Given the description of an element on the screen output the (x, y) to click on. 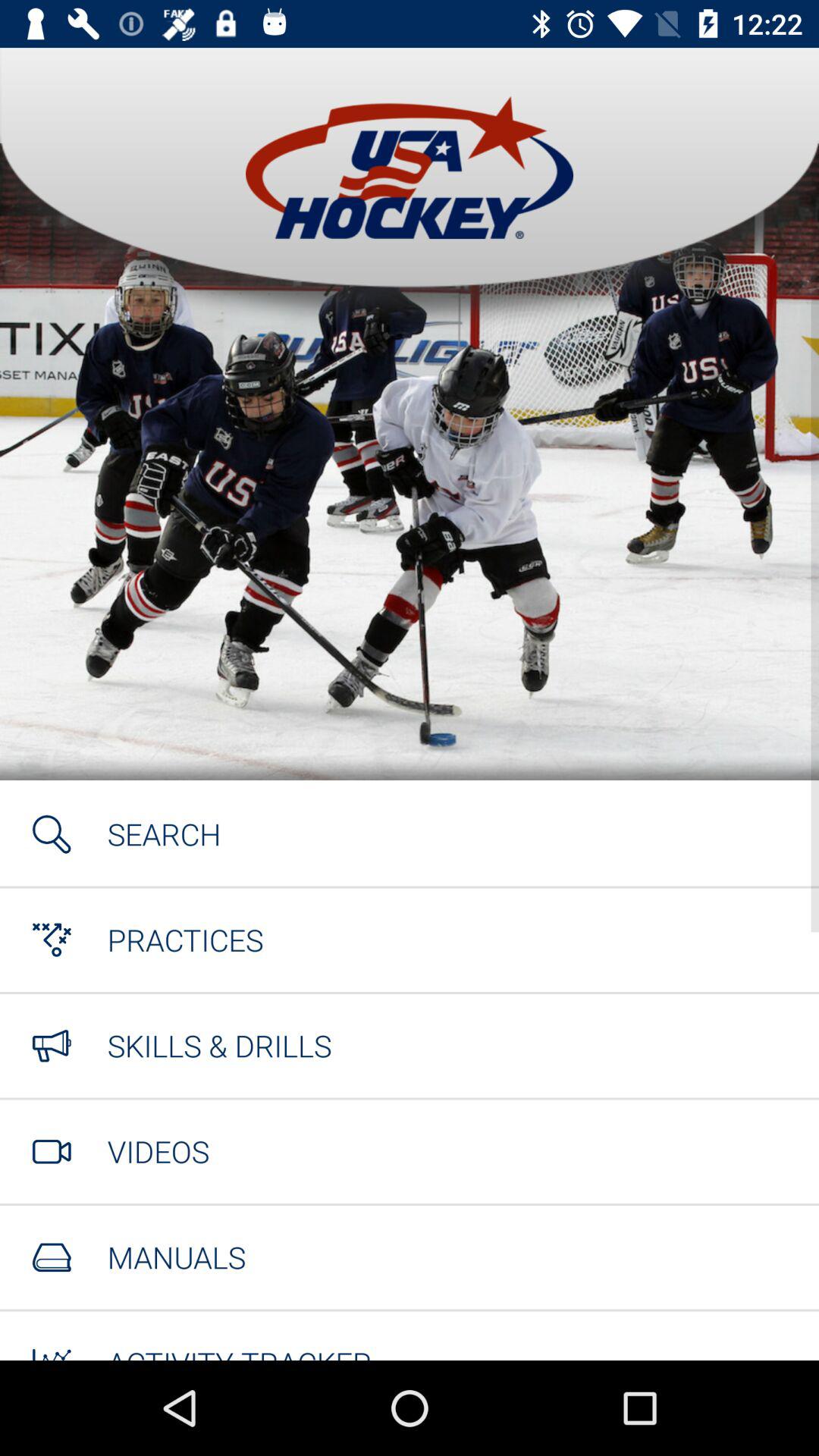
turn off item below skills & drills (158, 1151)
